Given the description of an element on the screen output the (x, y) to click on. 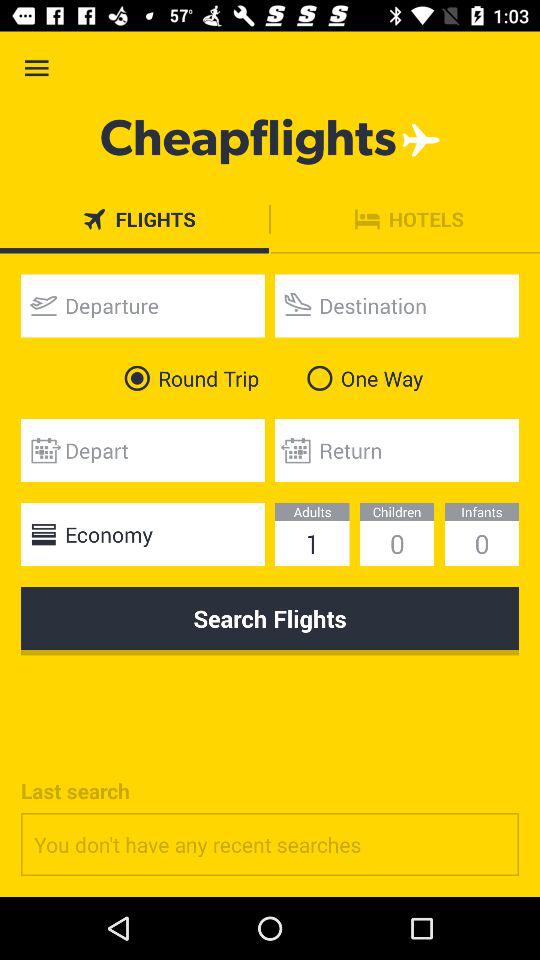
text box to enter destination airport (397, 305)
